Given the description of an element on the screen output the (x, y) to click on. 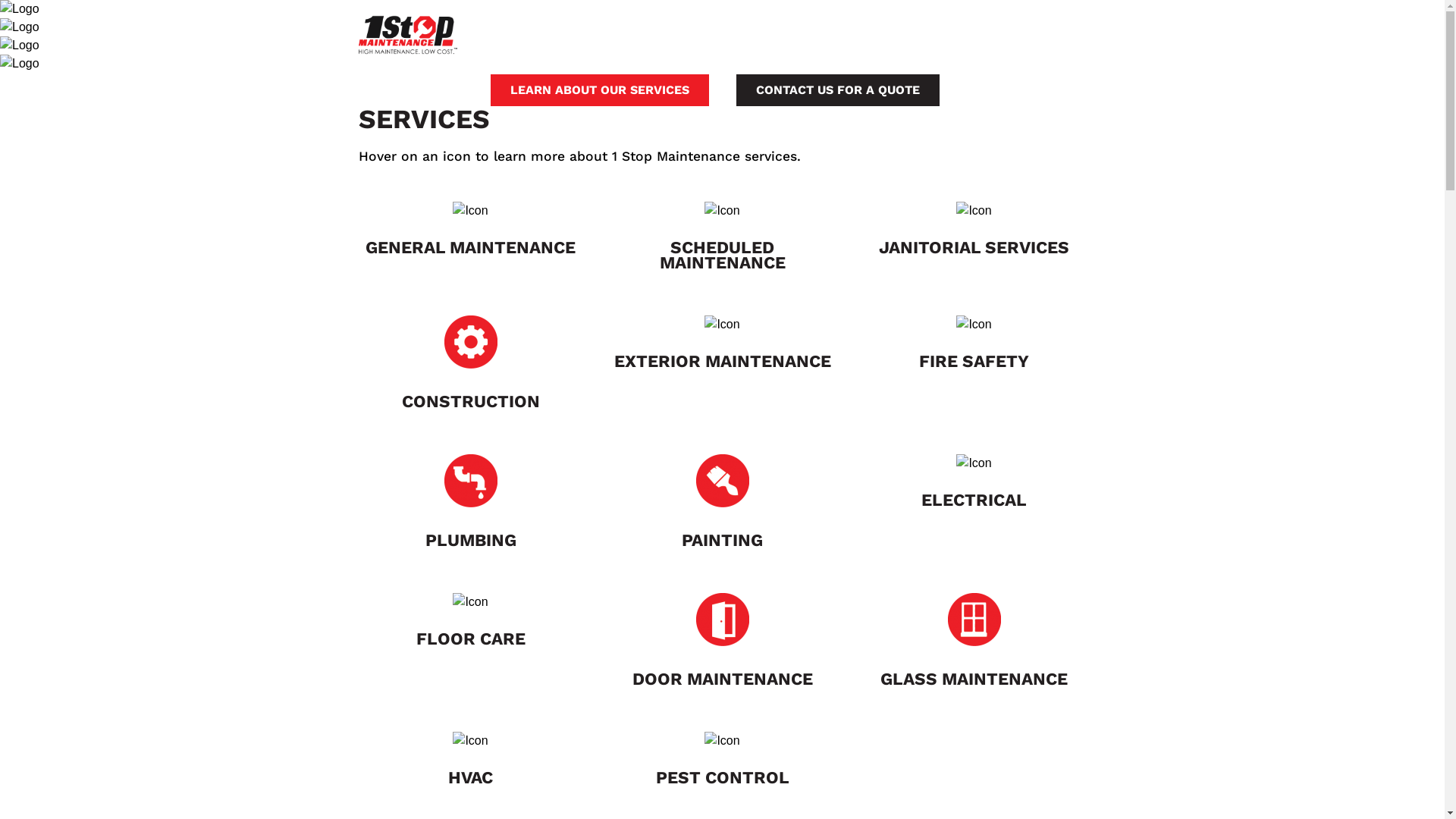
INDUSTRIES Element type: text (745, 31)
CASE STUDIES Element type: text (836, 31)
CONTACT US FOR A QUOTE Element type: text (836, 90)
SERVICES Element type: text (665, 31)
BLOG Element type: text (971, 31)
ABOUT Element type: text (915, 31)
LEARN ABOUT OUR SERVICES Element type: text (598, 90)
CONTACT Element type: text (1033, 31)
